Given the description of an element on the screen output the (x, y) to click on. 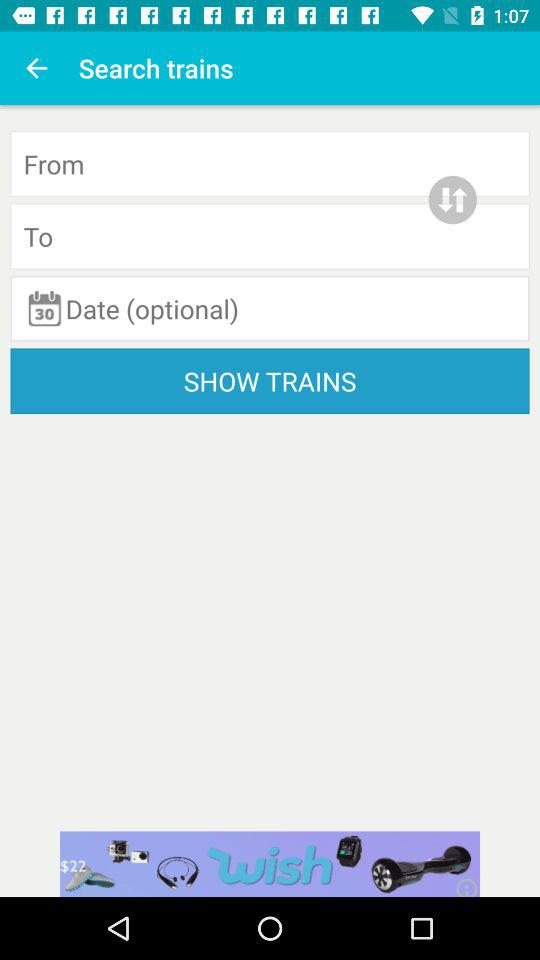
share article (270, 864)
